Given the description of an element on the screen output the (x, y) to click on. 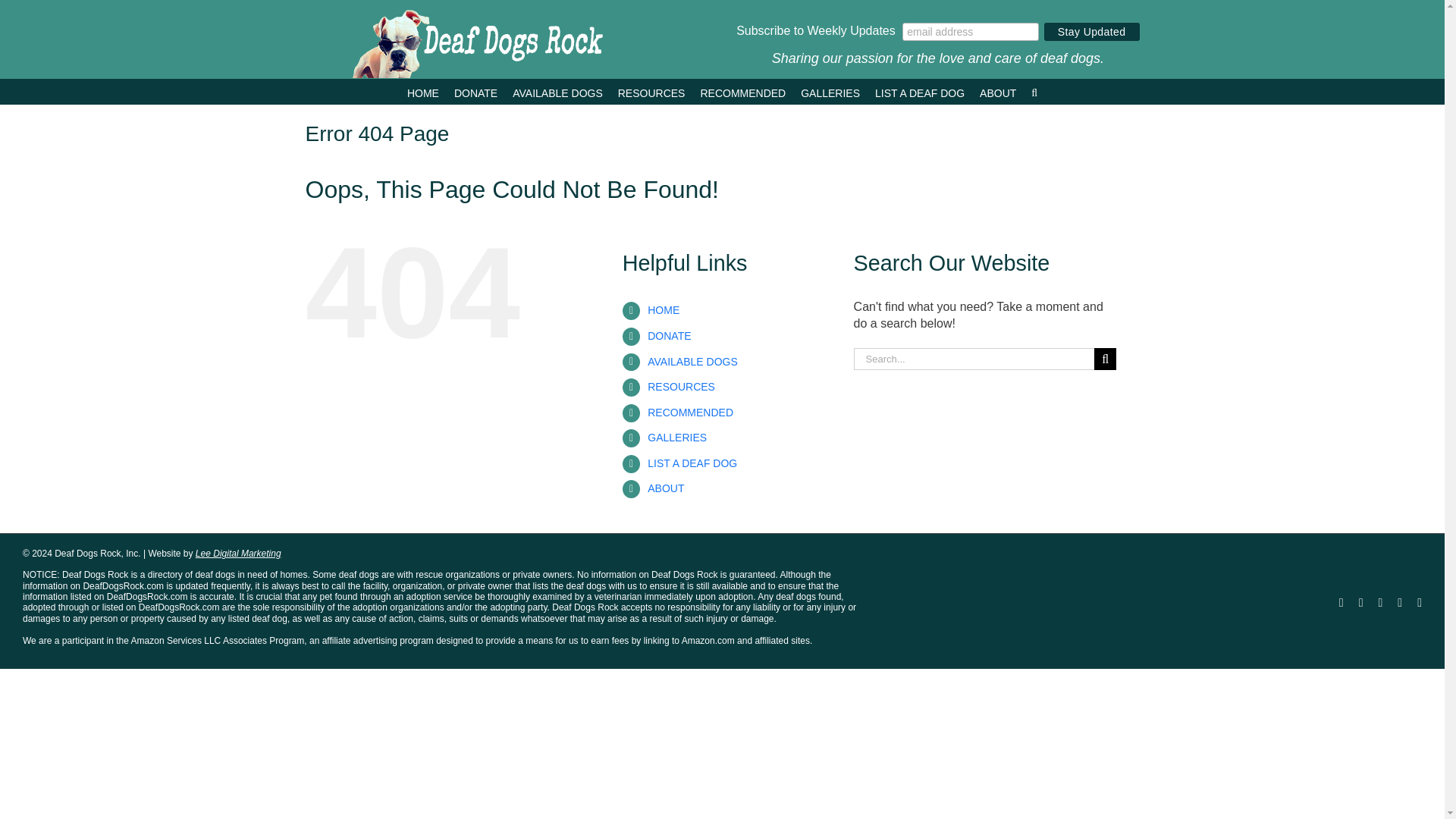
ABOUT (997, 91)
RECOMMENDED (743, 91)
HOME (423, 91)
website design by Lee Digital Marketing (214, 552)
RESOURCES (651, 91)
AVAILABLE DOGS (557, 91)
Stay Updated (1091, 31)
LIST A DEAF DOG (919, 91)
GALLERIES (830, 91)
Stay Updated (1091, 31)
DONATE (475, 91)
